Given the description of an element on the screen output the (x, y) to click on. 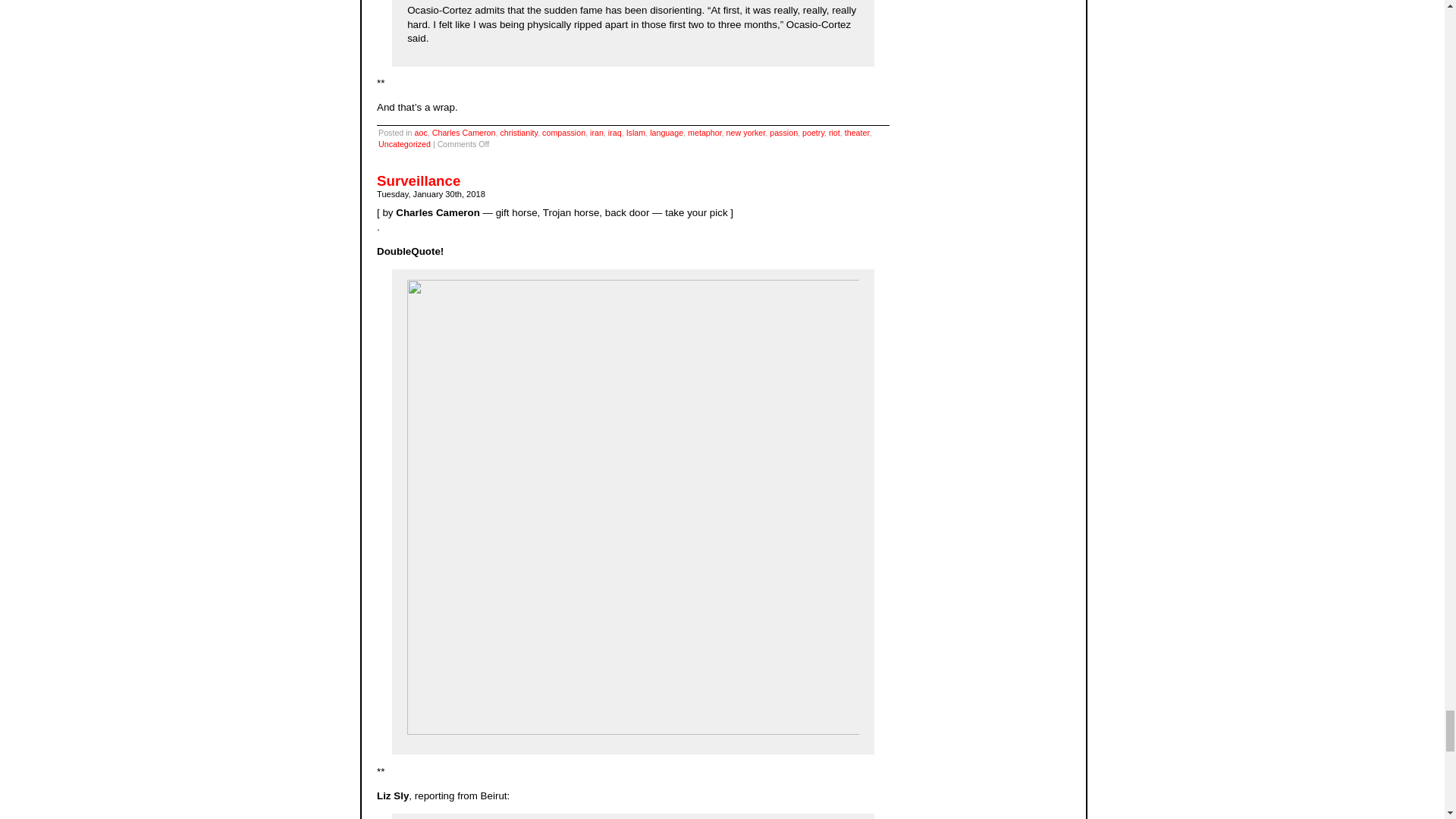
Permanent Link to Surveillance (418, 180)
